Given the description of an element on the screen output the (x, y) to click on. 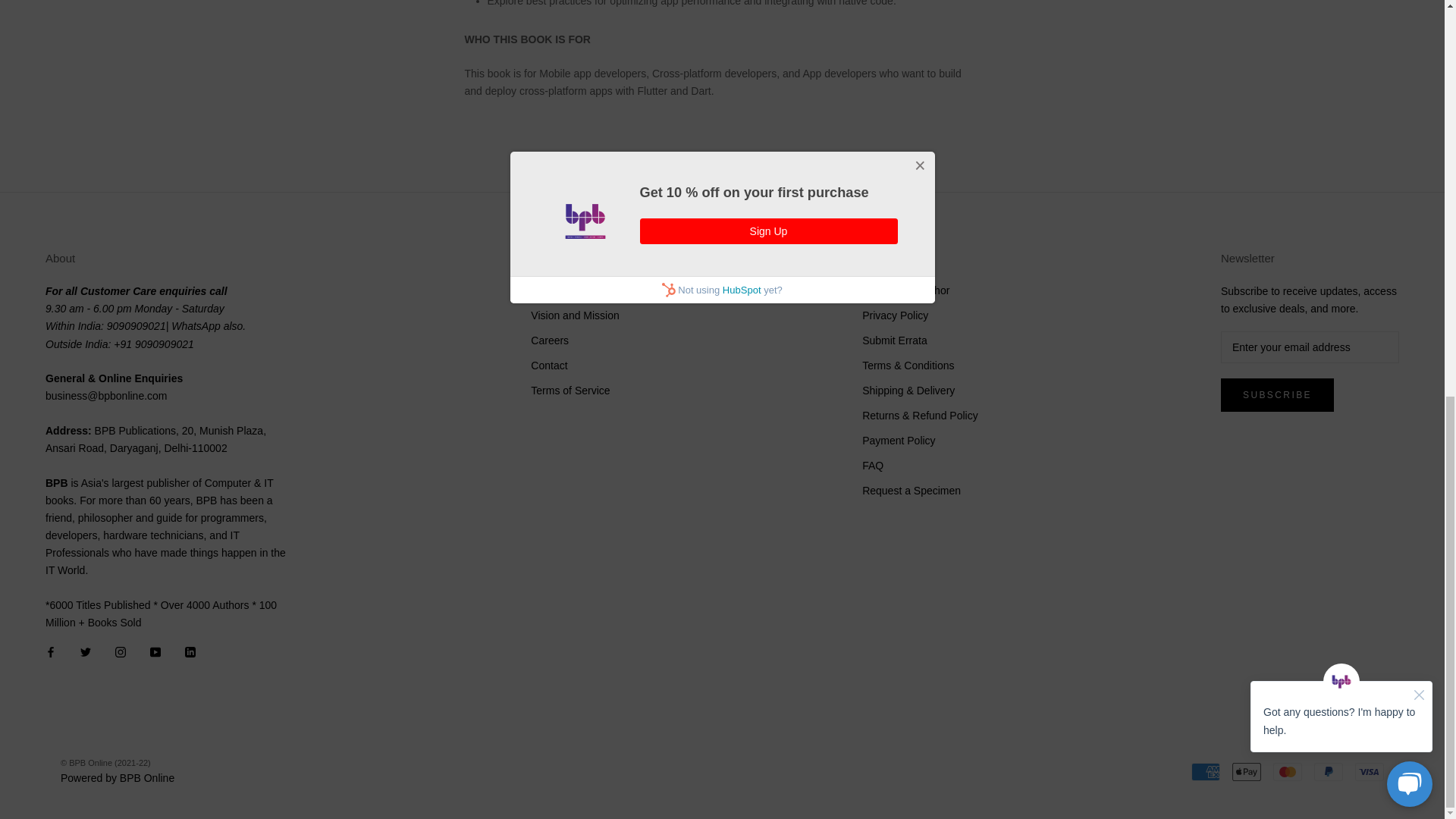
Mastercard (1286, 771)
PayPal (1328, 771)
Apple Pay (1245, 771)
American Express (1205, 771)
Visa (1369, 771)
